Given the description of an element on the screen output the (x, y) to click on. 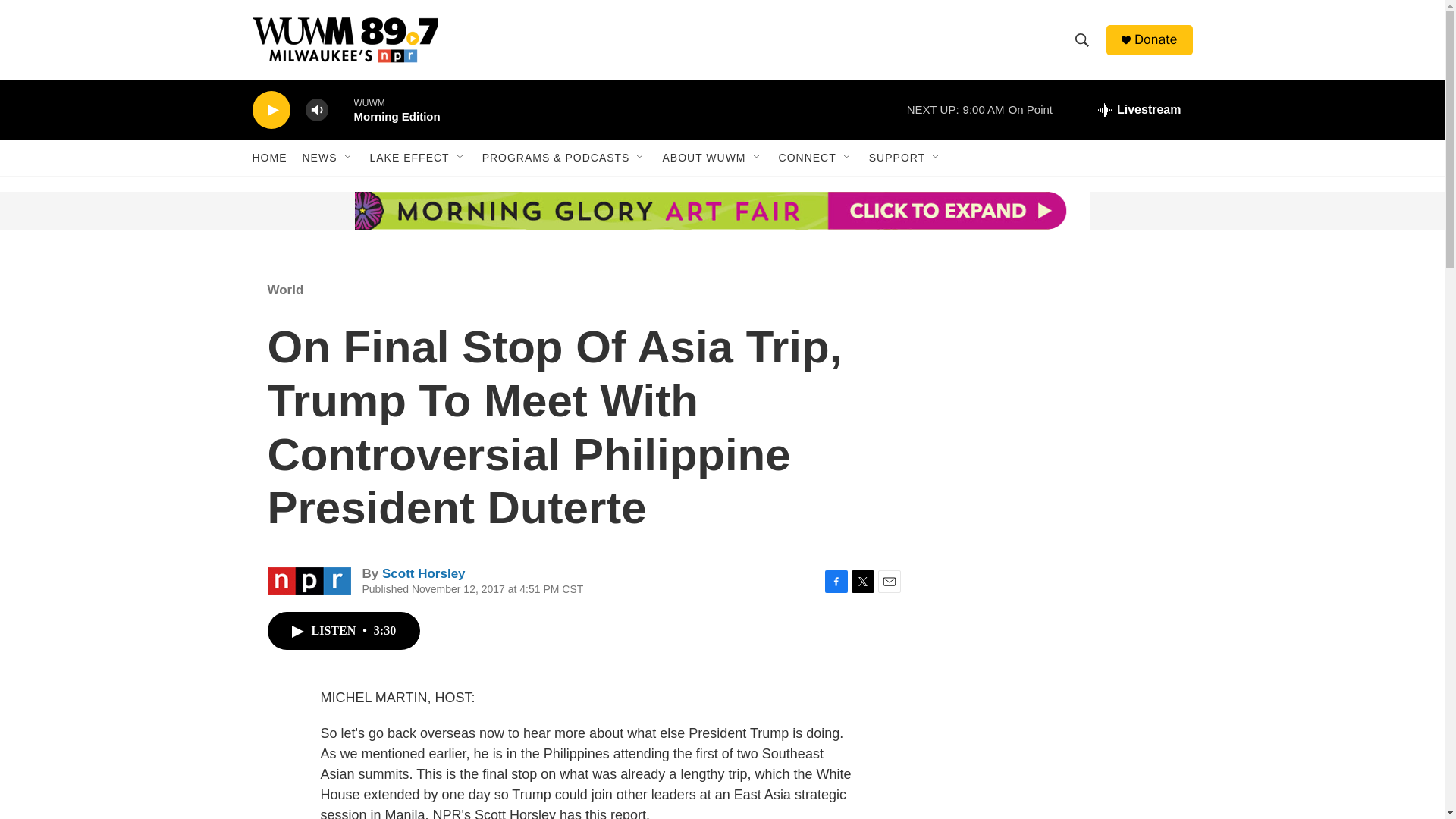
3rd party ad content (1062, 608)
3rd party ad content (367, 210)
3rd party ad content (1062, 370)
3rd party ad content (1062, 785)
